Given the description of an element on the screen output the (x, y) to click on. 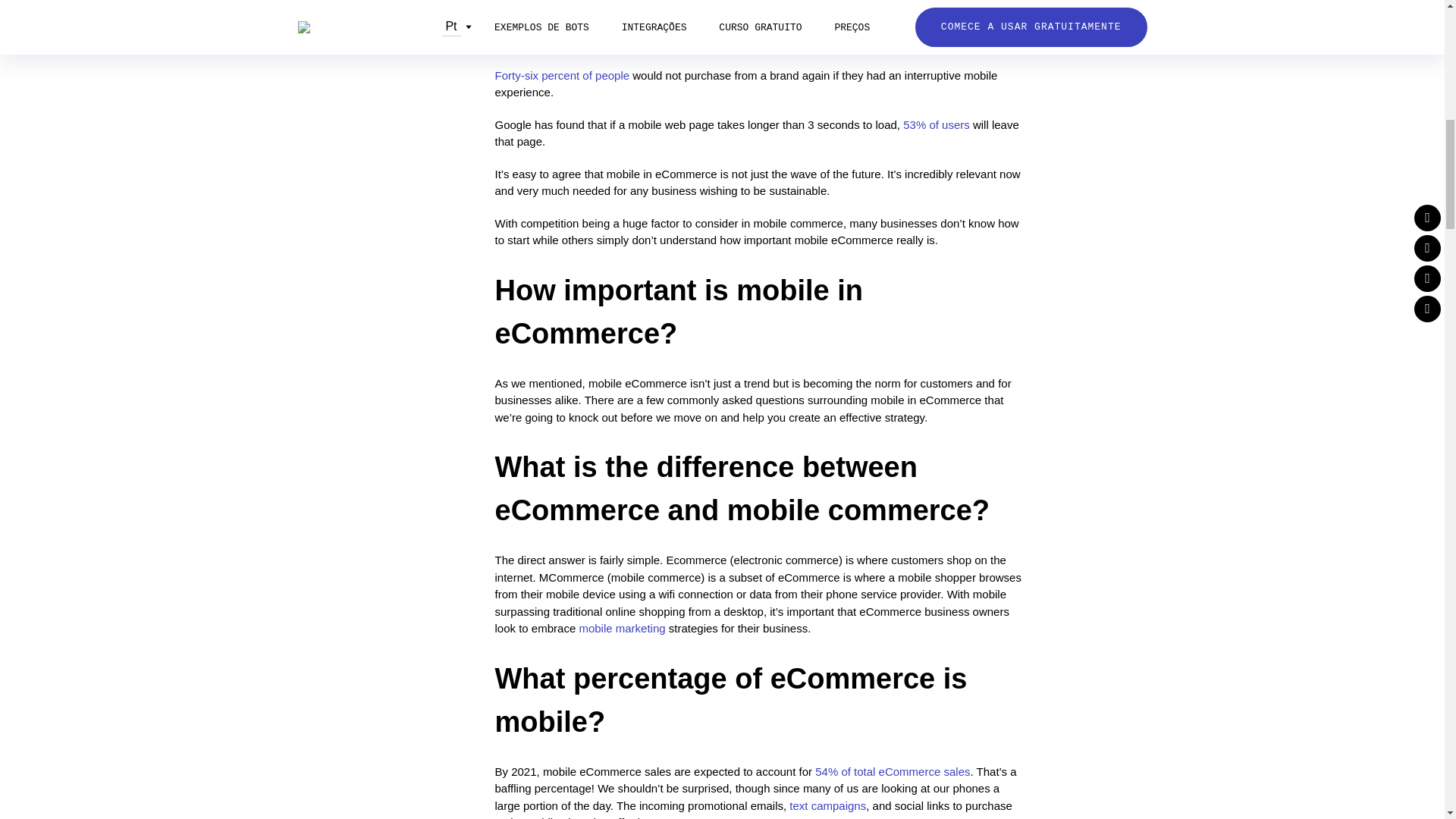
Forty-six percent of people (561, 74)
mobile marketing (621, 627)
